Given the description of an element on the screen output the (x, y) to click on. 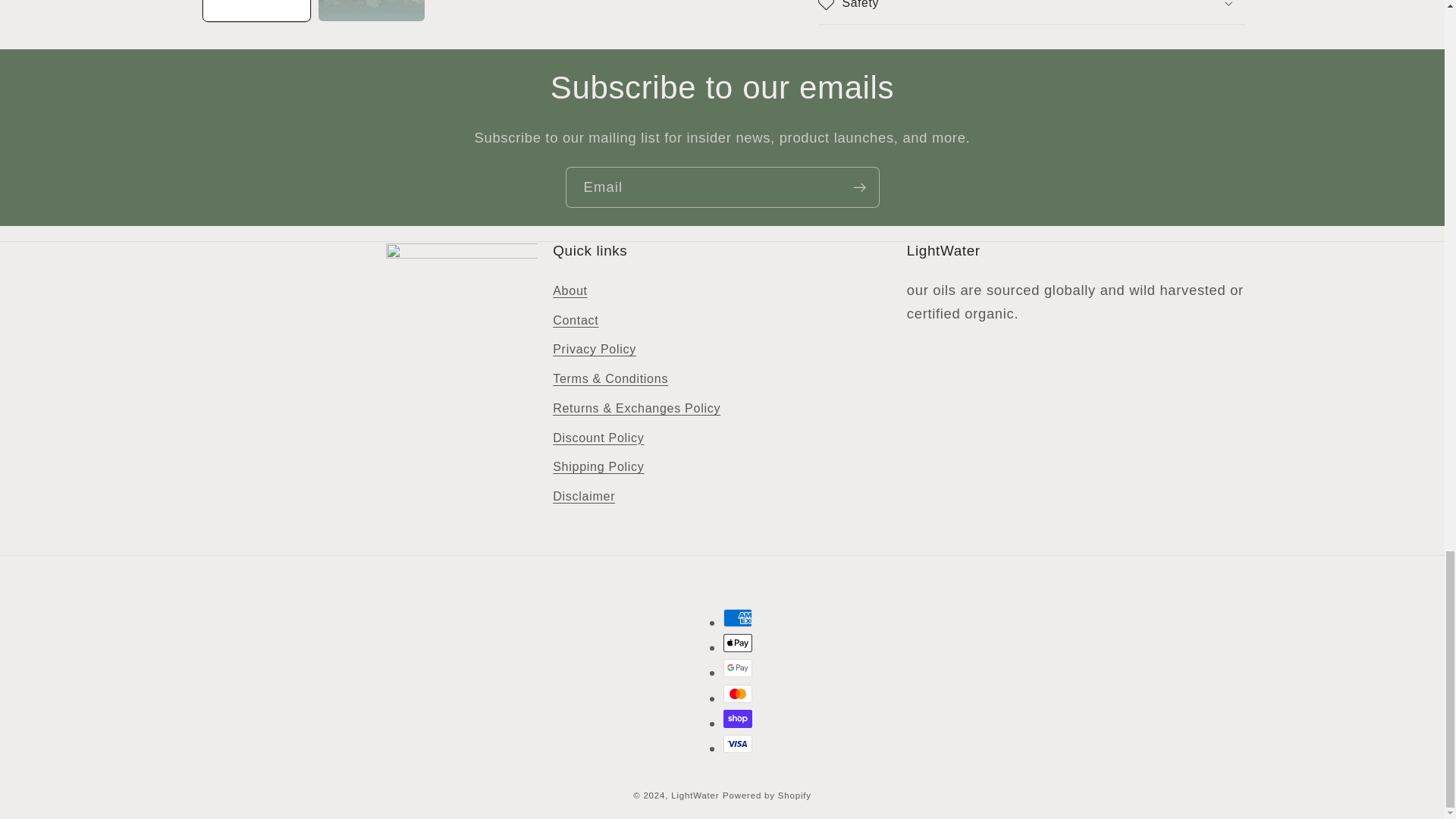
Apple Pay (737, 642)
Google Pay (737, 668)
Mastercard (737, 693)
American Express (737, 618)
Shop Pay (737, 719)
